Given the description of an element on the screen output the (x, y) to click on. 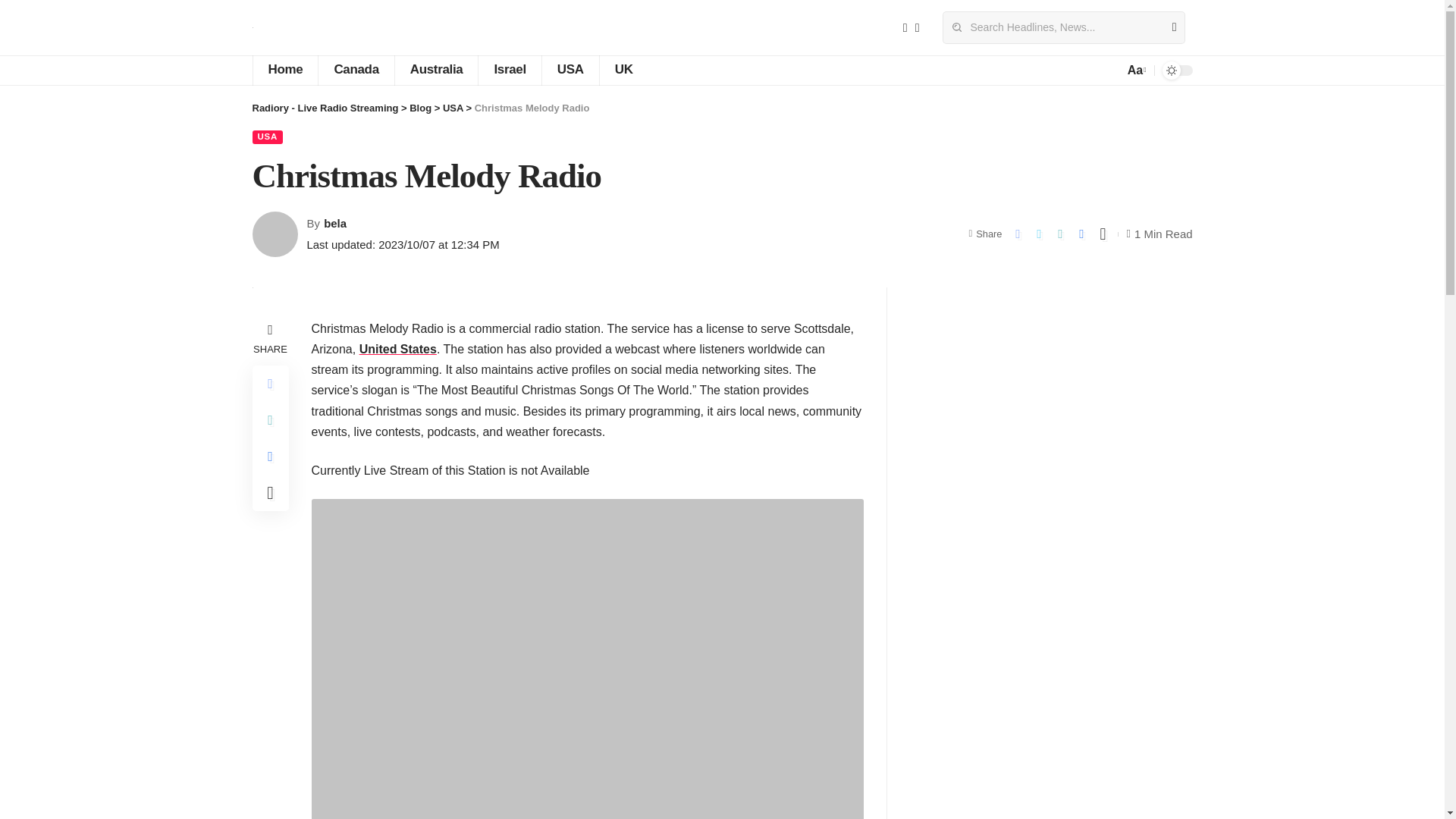
UK (622, 70)
Aa (1135, 69)
Go to the USA Category archives. (452, 107)
USA (569, 70)
Israel (508, 70)
Search (1168, 27)
Blog (419, 107)
Canada (355, 70)
Go to Radiory - Live Radio Streaming. (324, 107)
Home (284, 70)
